Given the description of an element on the screen output the (x, y) to click on. 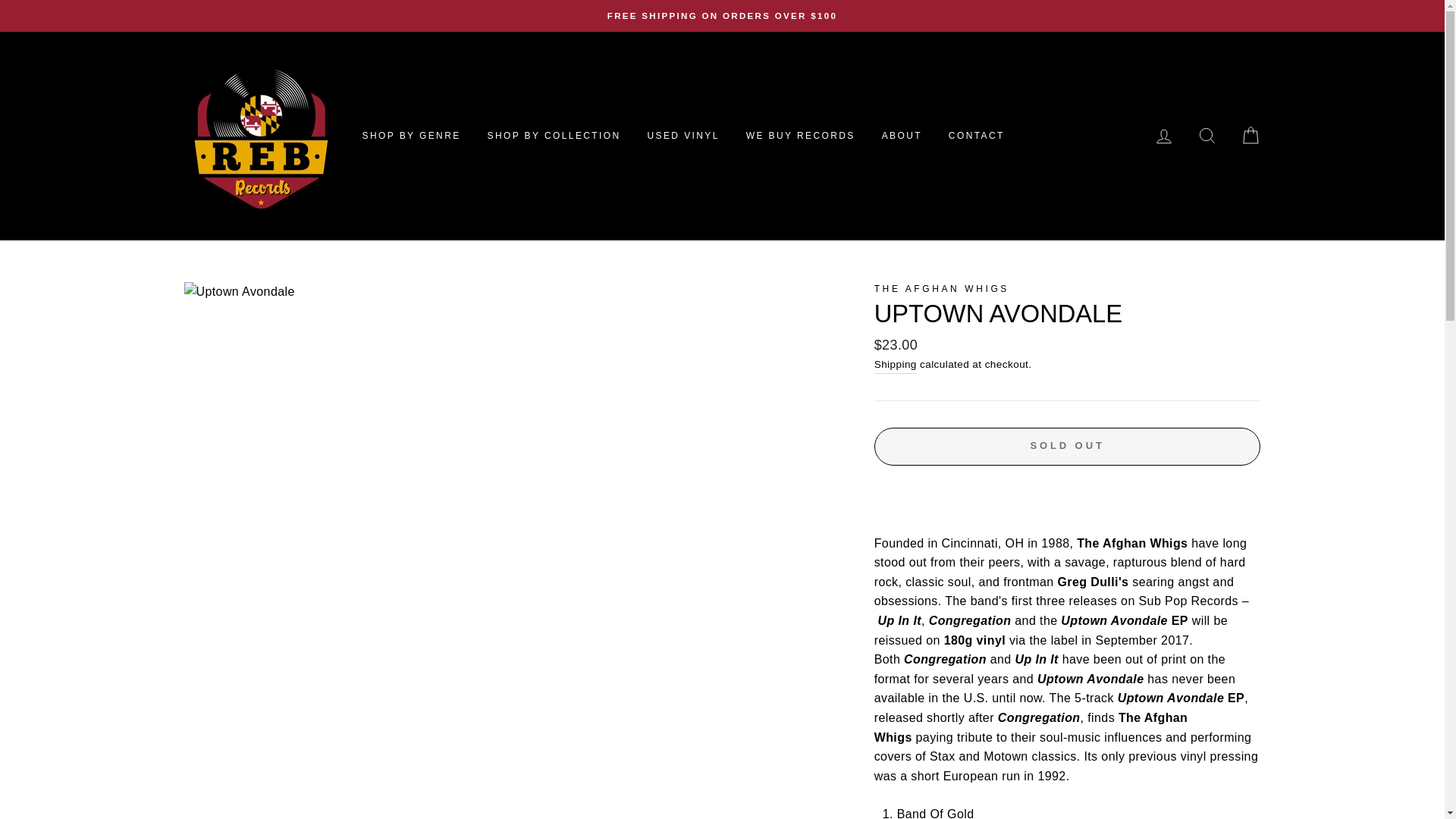
The Afghan Whigs (942, 288)
SHOP BY GENRE (410, 135)
